Given the description of an element on the screen output the (x, y) to click on. 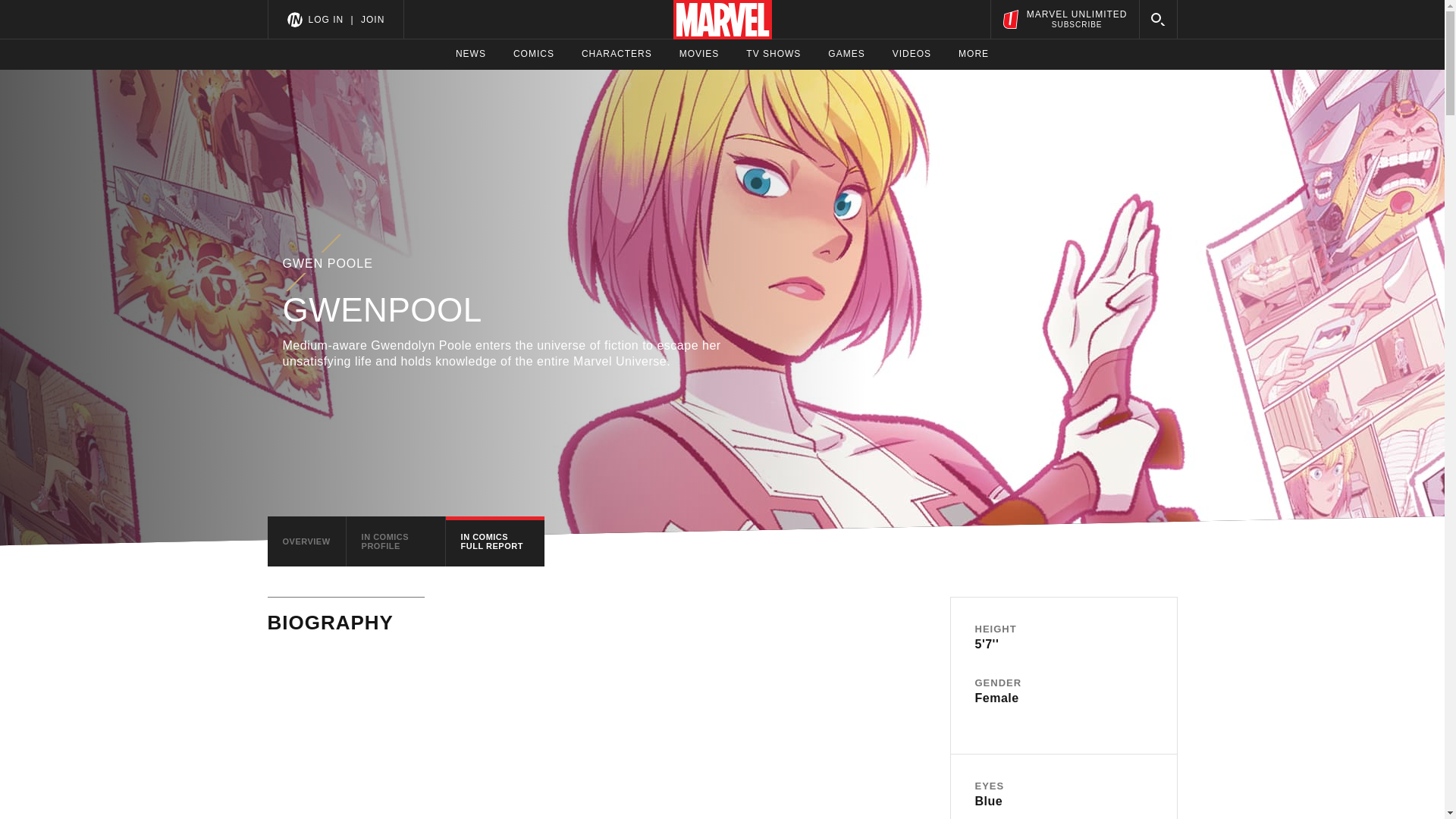
VIDEOS (911, 54)
IN COMICS PROFILE (395, 541)
GAMES (846, 54)
MORE (973, 54)
IN COMICS FULL REPORT (494, 541)
OVERVIEW (305, 541)
LOG IN (325, 18)
TV SHOWS (772, 54)
CHARACTERS (616, 54)
JOIN (372, 18)
